Given the description of an element on the screen output the (x, y) to click on. 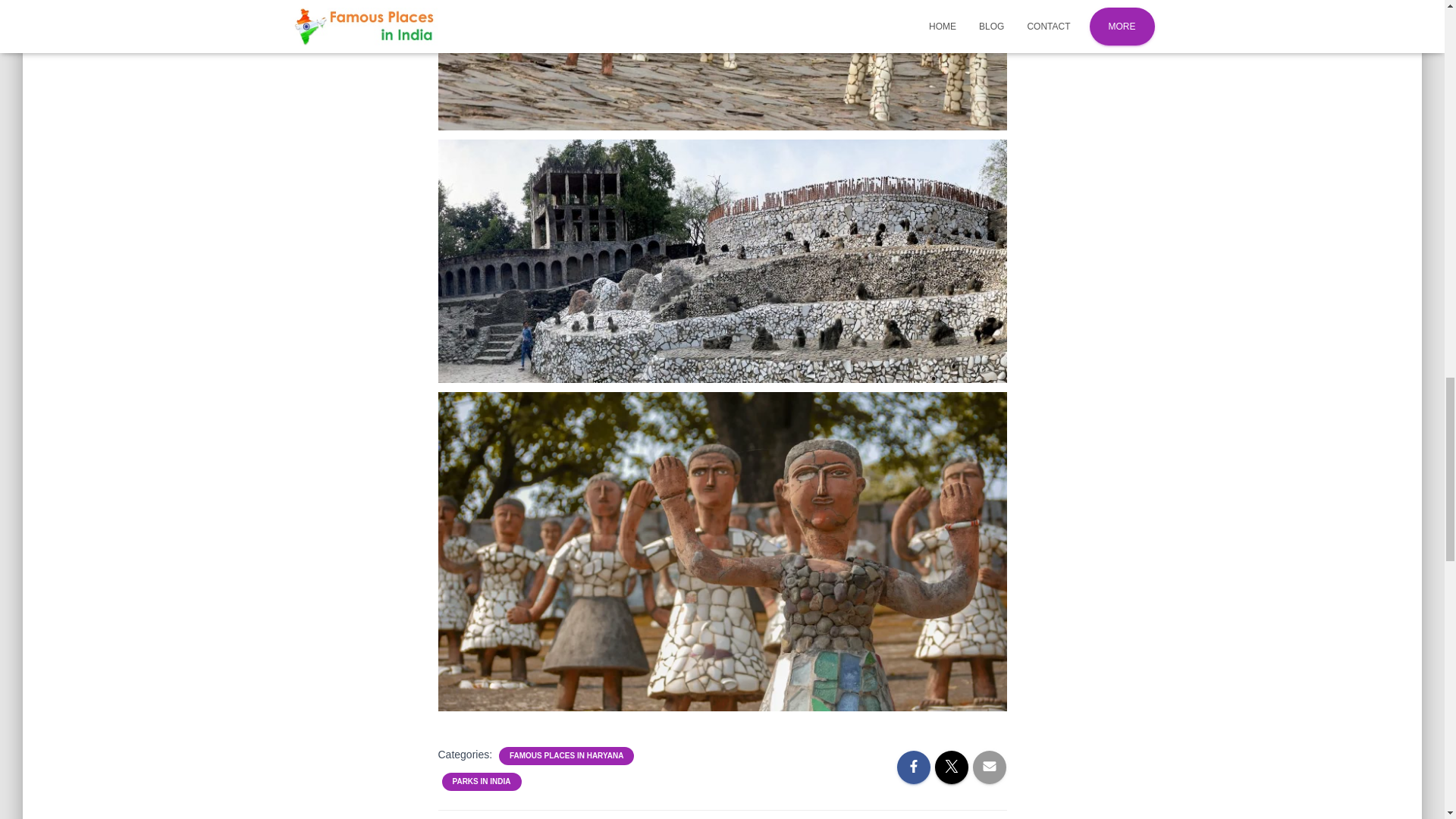
FAMOUS PLACES IN HARYANA (566, 756)
PARKS IN INDIA (480, 781)
